Given the description of an element on the screen output the (x, y) to click on. 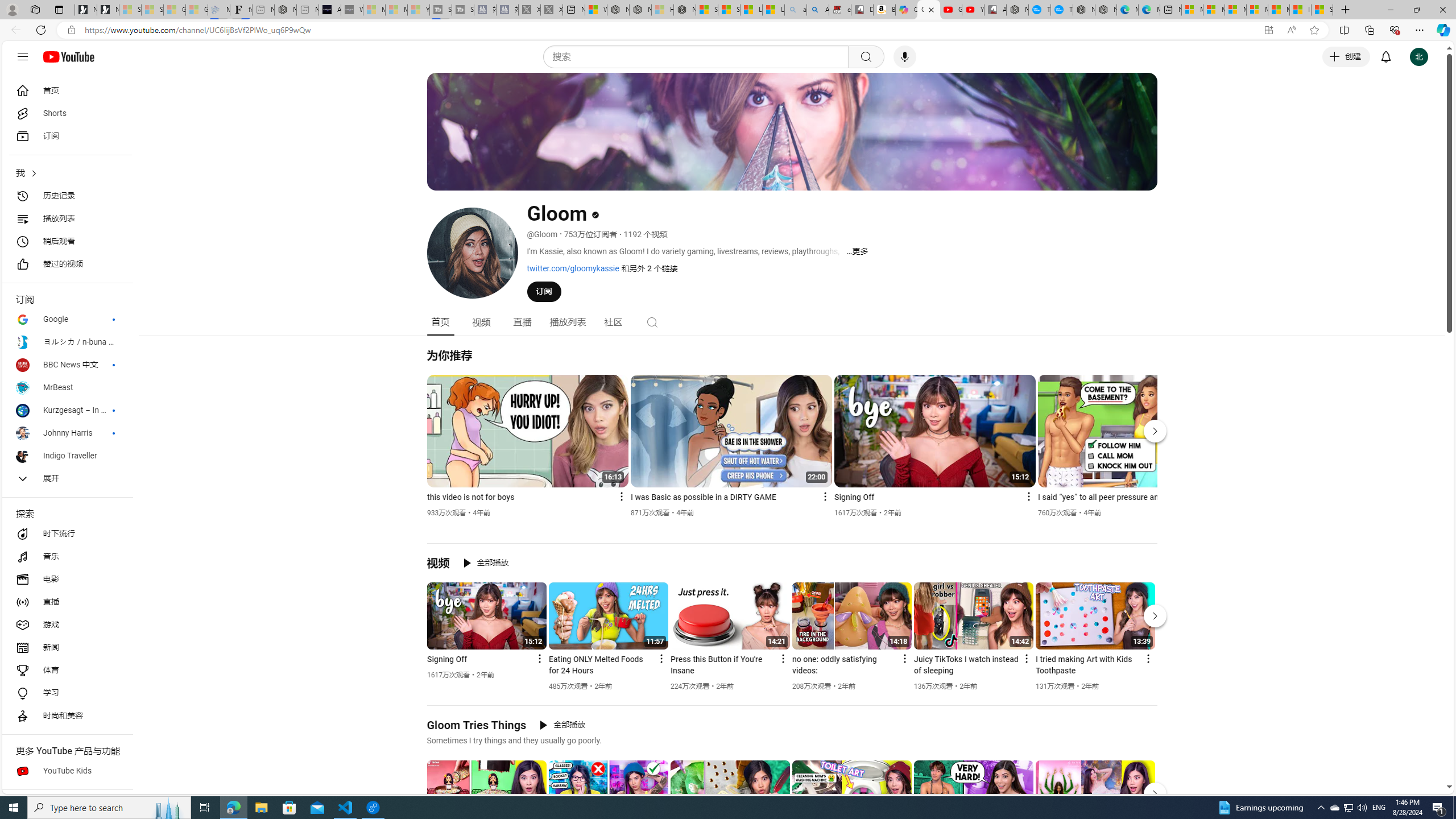
I Gained 20 Pounds of Muscle in 30 Days! | Watch (1300, 9)
